Given the description of an element on the screen output the (x, y) to click on. 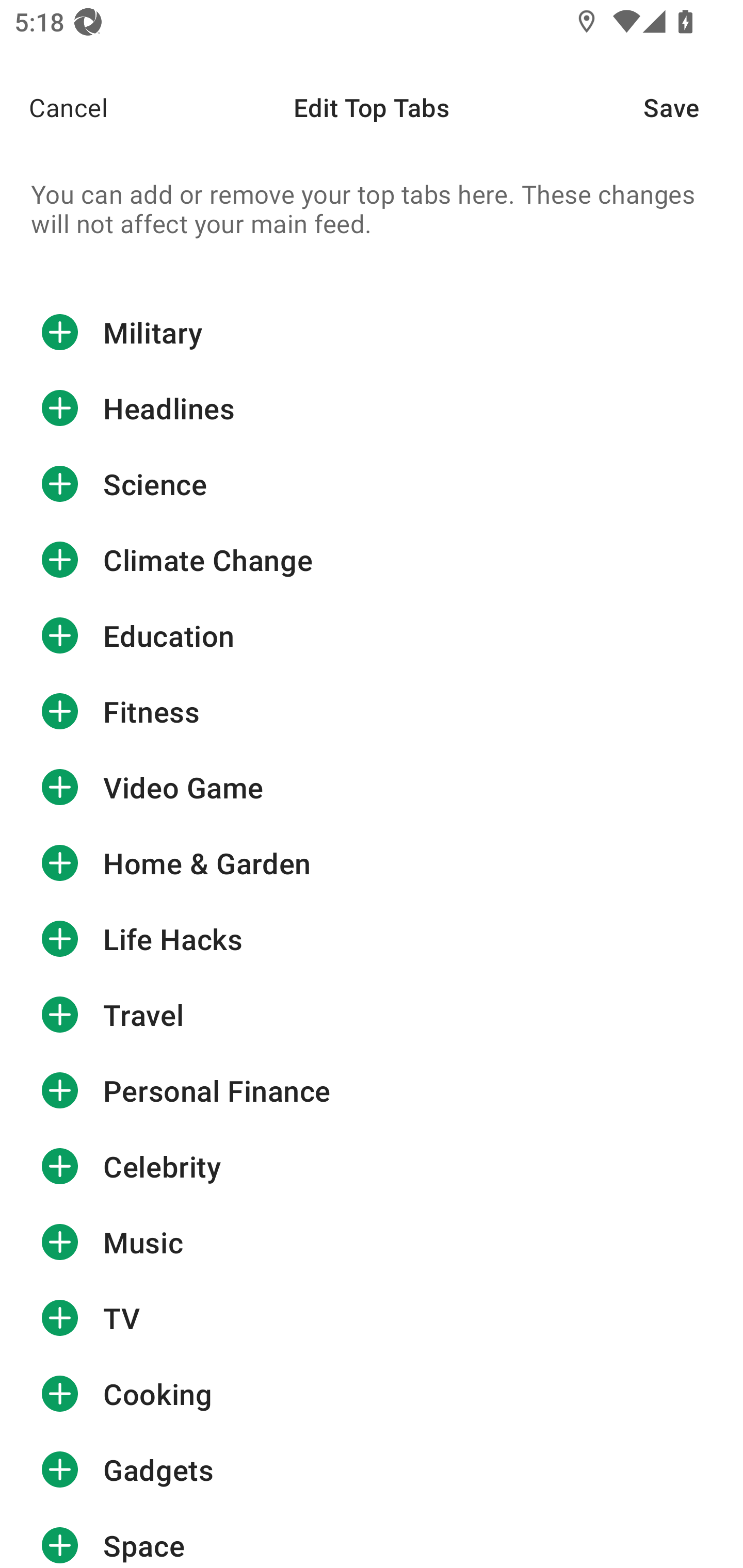
Cancel (53, 106)
Save (693, 106)
Military (371, 332)
Headlines (371, 408)
Science (371, 484)
Climate Change (371, 559)
Education (371, 635)
Fitness (371, 711)
Video Game (371, 786)
Home & Garden (371, 862)
Life Hacks (371, 938)
Travel (371, 1014)
Personal Finance (371, 1090)
Celebrity (371, 1166)
Music (371, 1241)
TV (371, 1317)
Cooking (371, 1393)
Gadgets (371, 1469)
Space (371, 1538)
